Given the description of an element on the screen output the (x, y) to click on. 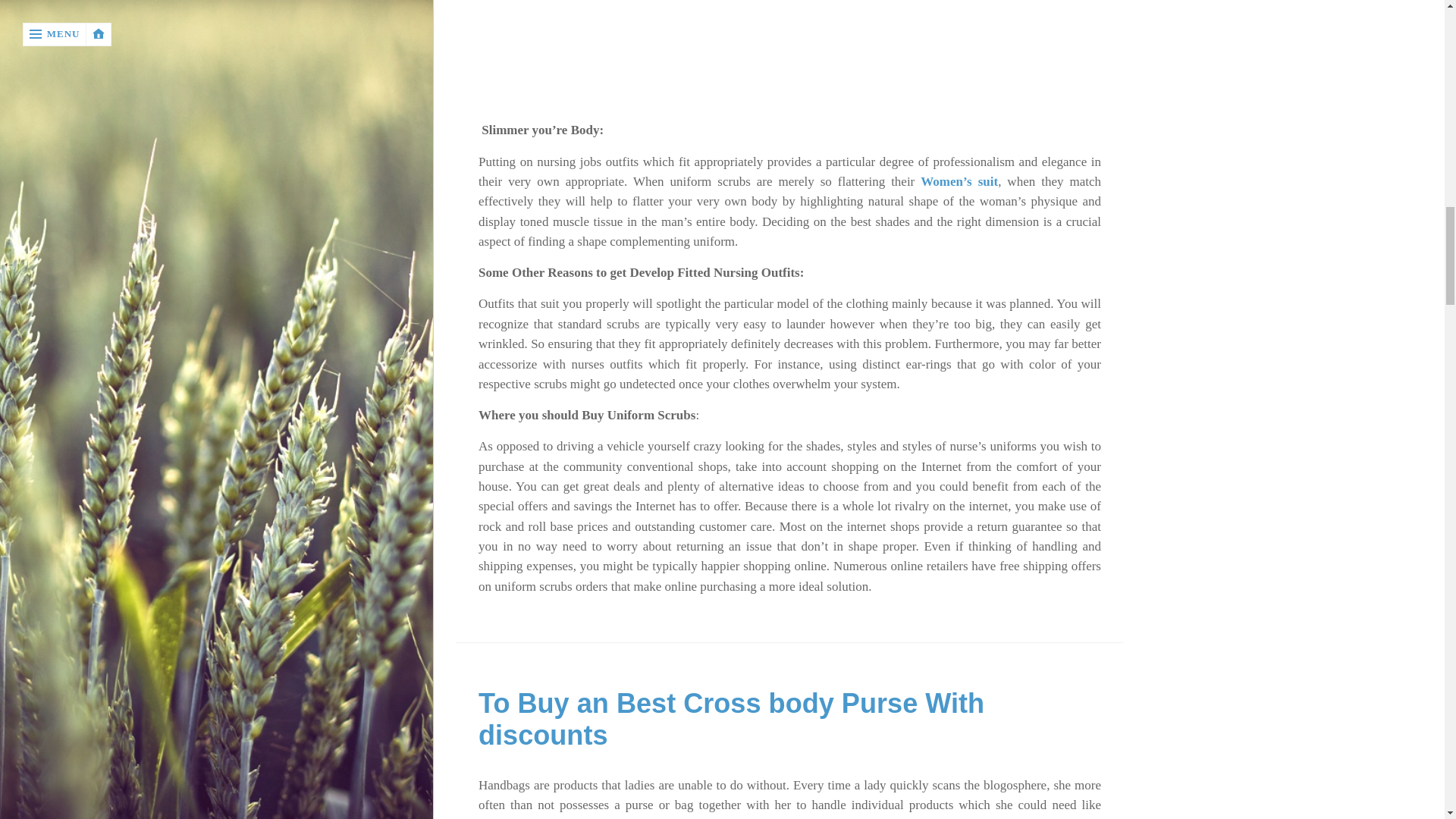
To Buy an Best Cross body Purse With discounts (731, 719)
